Given the description of an element on the screen output the (x, y) to click on. 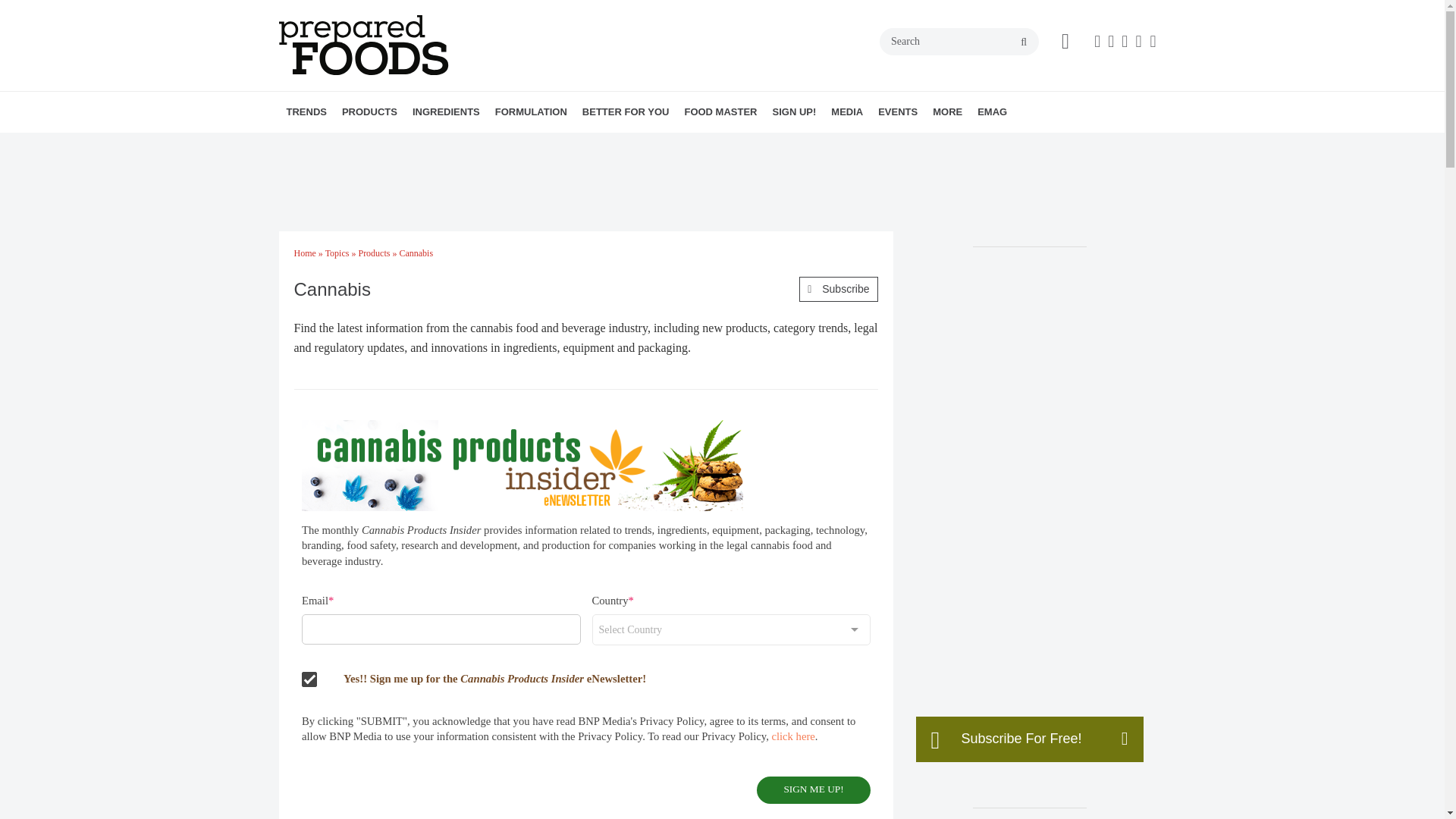
Search (959, 41)
SOUPS (472, 145)
BEVERAGES (436, 145)
search (1023, 42)
COLORINGS (506, 145)
DAIRY (456, 145)
FRUITS, VEGETABLES AND NUTS (530, 145)
PRODUCTS (369, 111)
CANDY (448, 145)
